Given the description of an element on the screen output the (x, y) to click on. 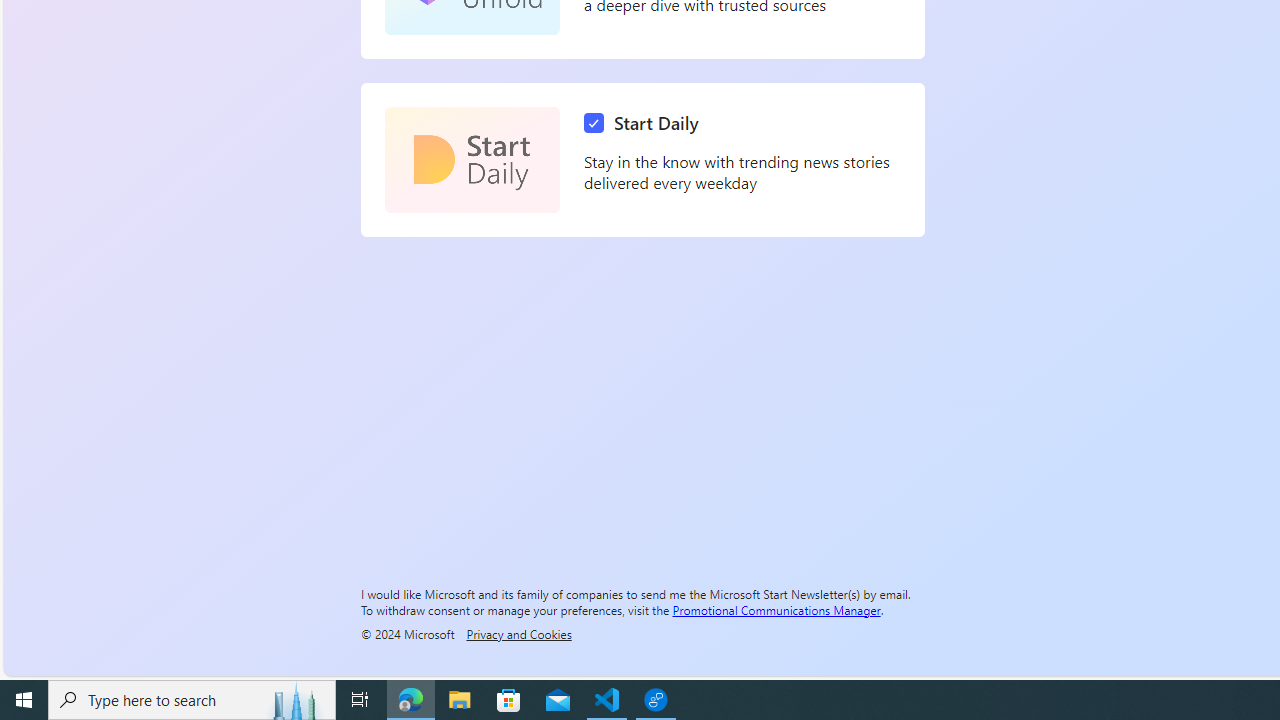
Promotional Communications Manager (776, 609)
Start Daily (472, 160)
Start Daily (645, 123)
Privacy and Cookies (518, 633)
